Given the description of an element on the screen output the (x, y) to click on. 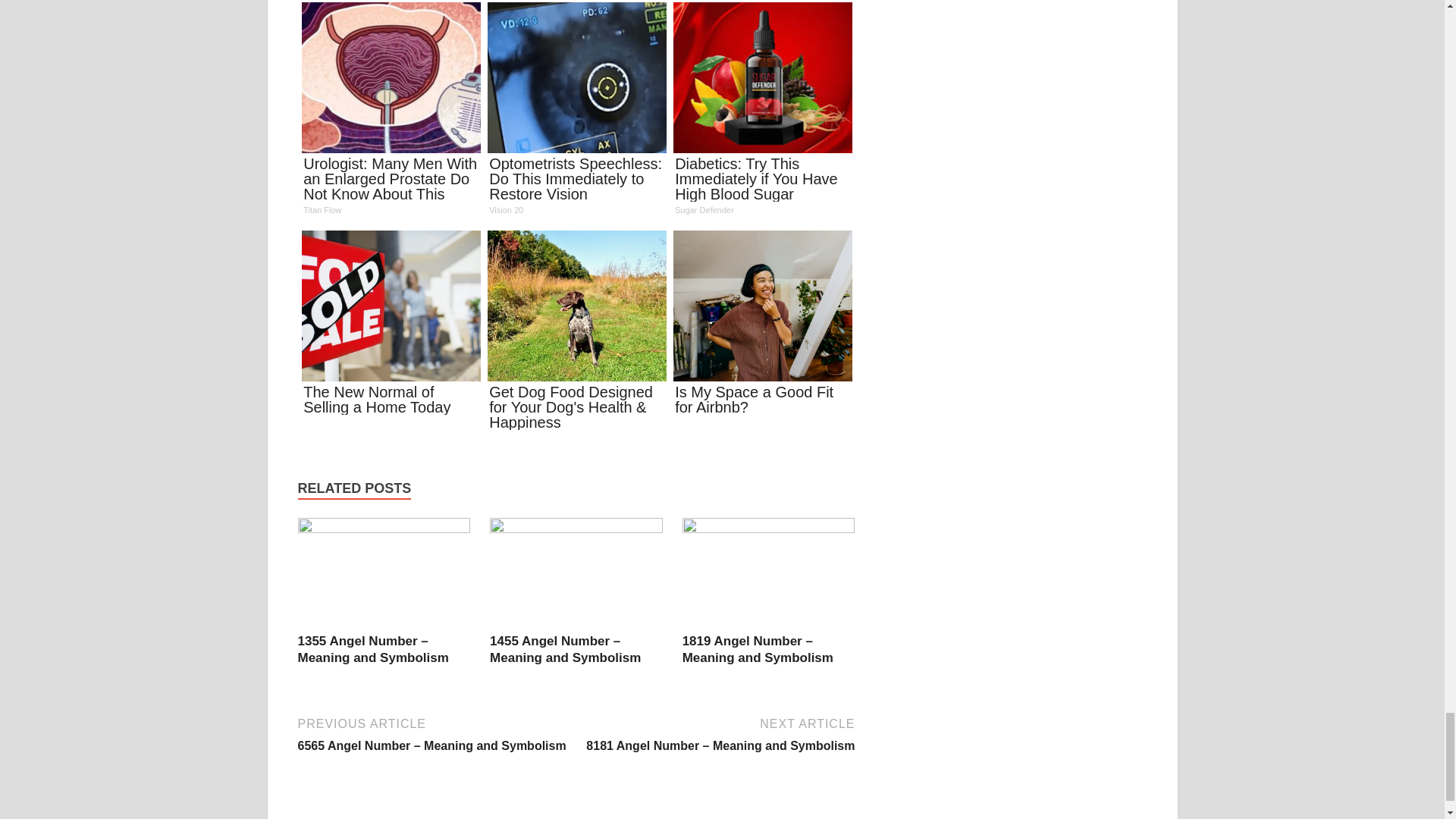
The New Normal of Selling a Home Today (390, 327)
The New Normal of Selling a Home Today (390, 327)
Is My Space a Good Fit for Airbnb? (761, 327)
